Given the description of an element on the screen output the (x, y) to click on. 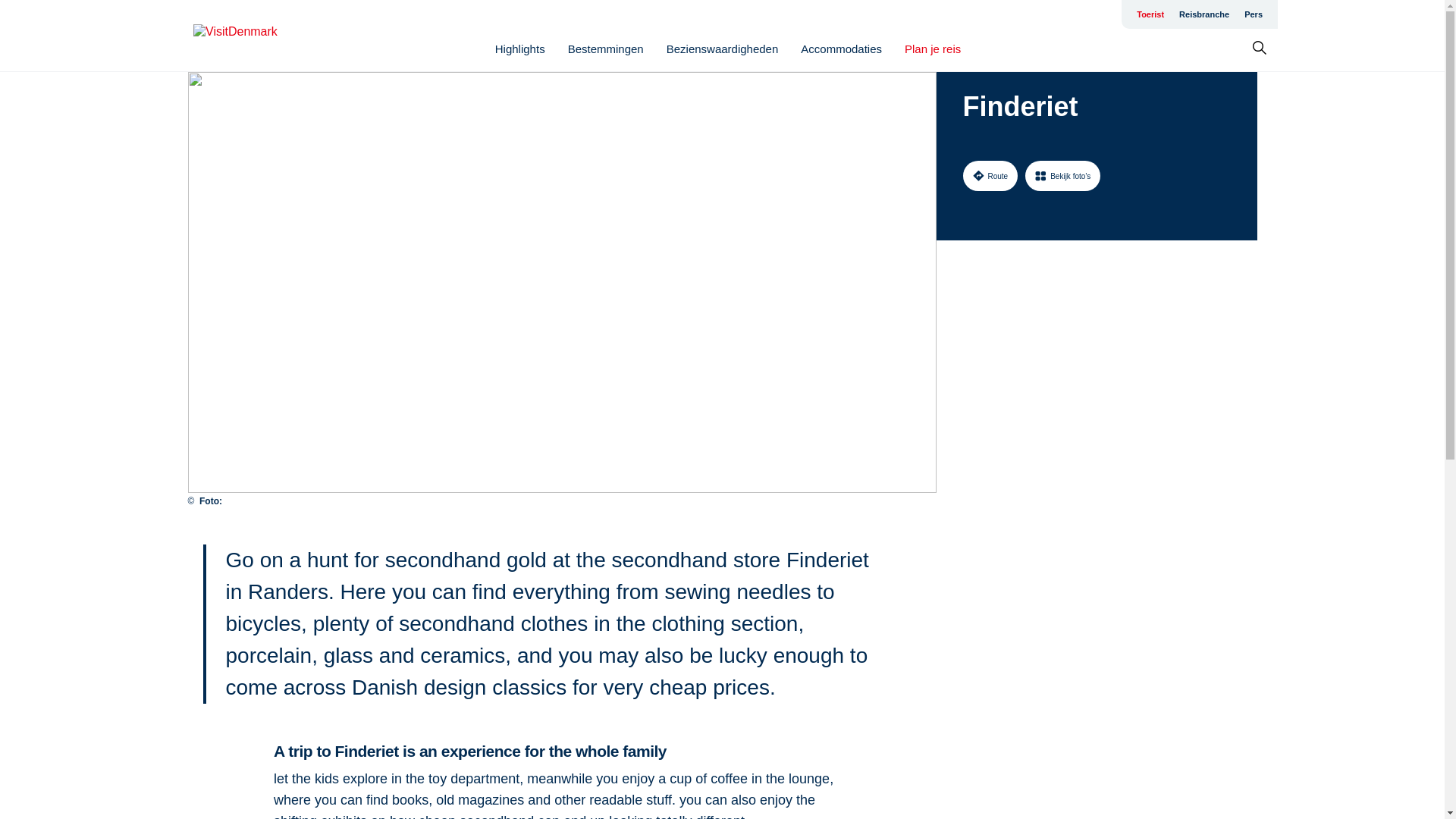
Plan je reis (932, 48)
Route (989, 175)
Bezienswaardigheden (722, 48)
Highlights (519, 48)
Reisbranche (1204, 14)
Pers (1252, 14)
Accommodaties (841, 48)
Go to homepage (253, 35)
Bestemmingen (605, 48)
Toerist (1150, 14)
